Given the description of an element on the screen output the (x, y) to click on. 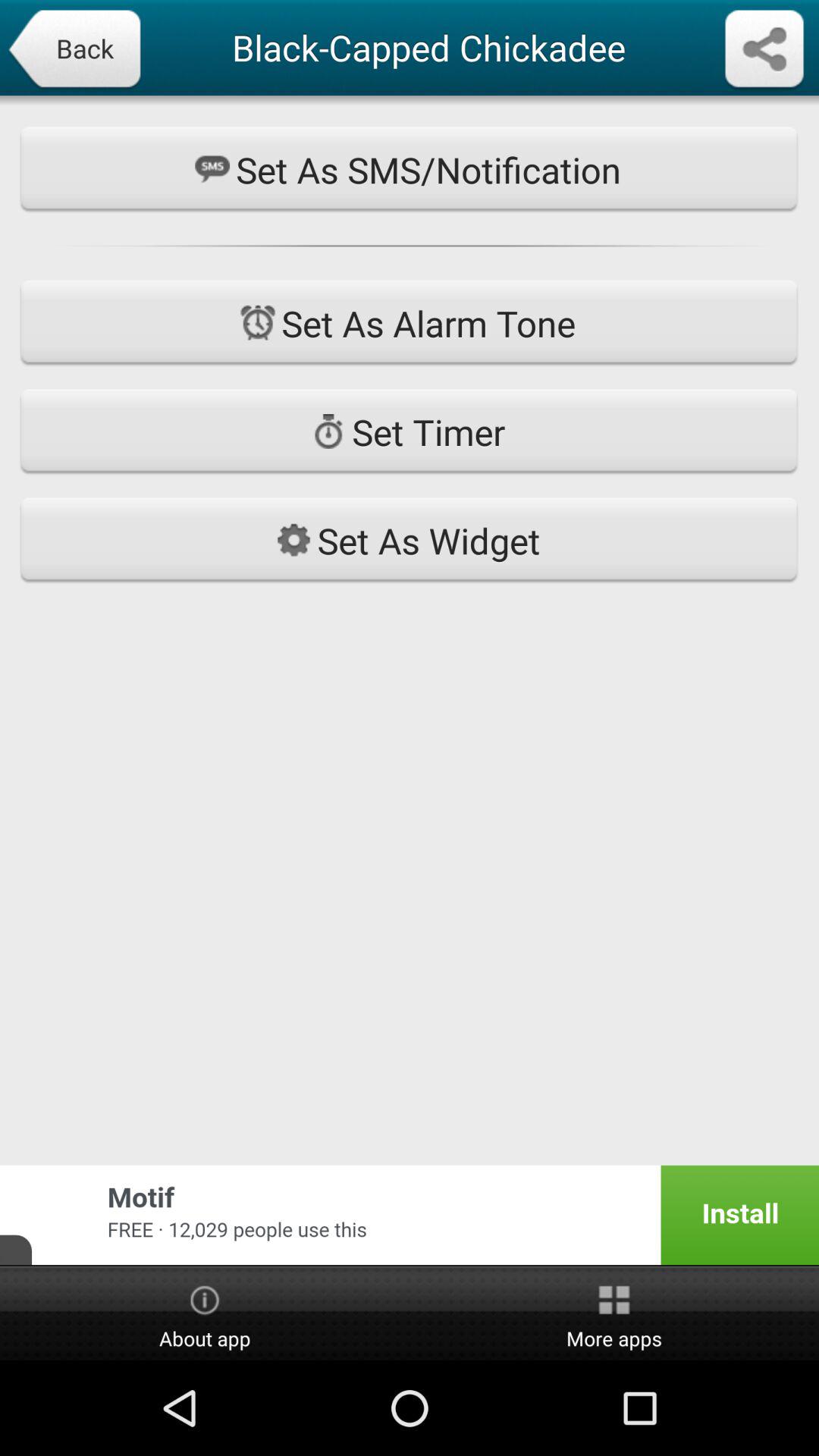
choose the icon at the top right corner (764, 50)
